Given the description of an element on the screen output the (x, y) to click on. 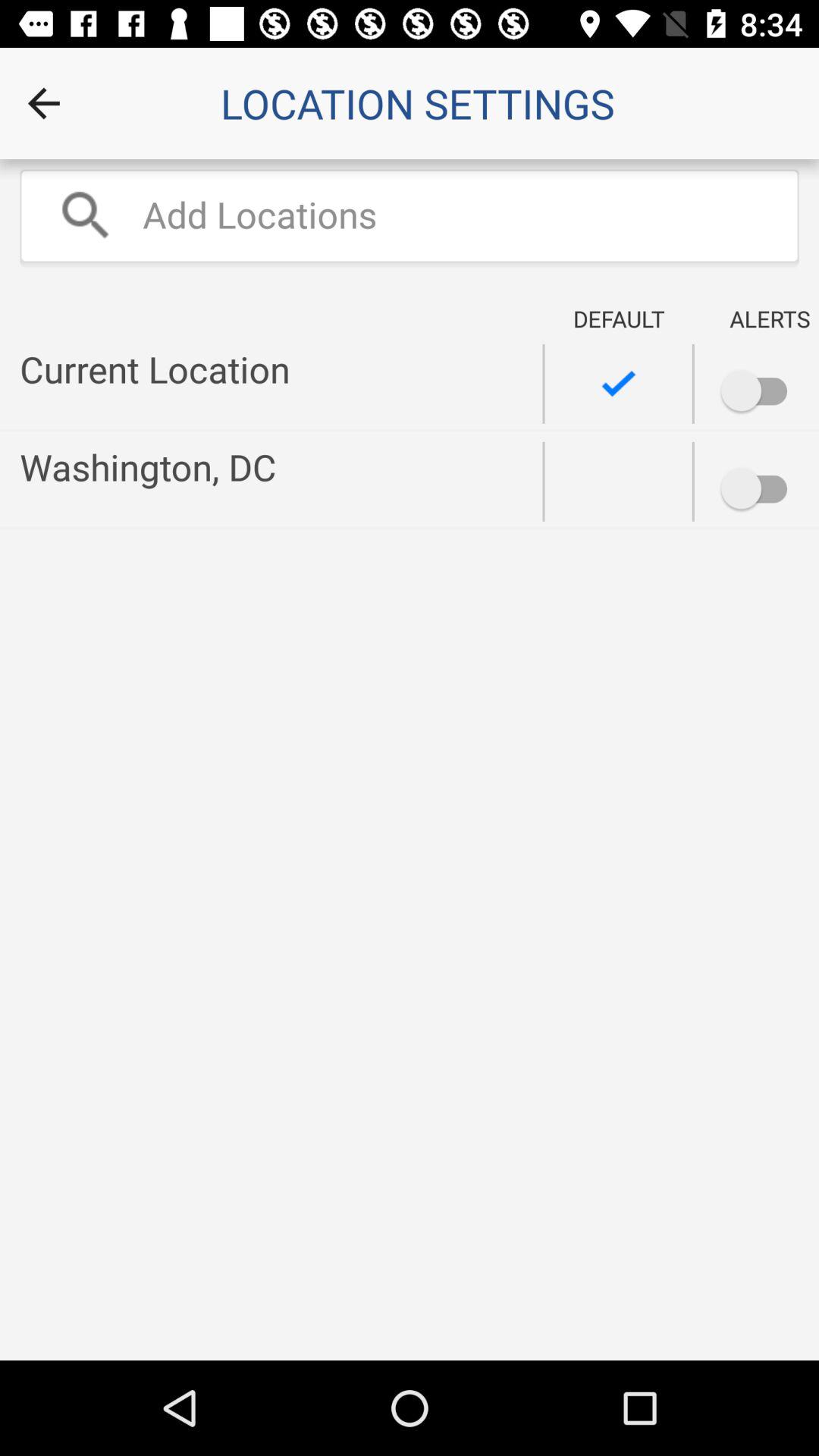
select tick option in the default column (618, 384)
click on the first slide bar icon (711, 381)
